Given the description of an element on the screen output the (x, y) to click on. 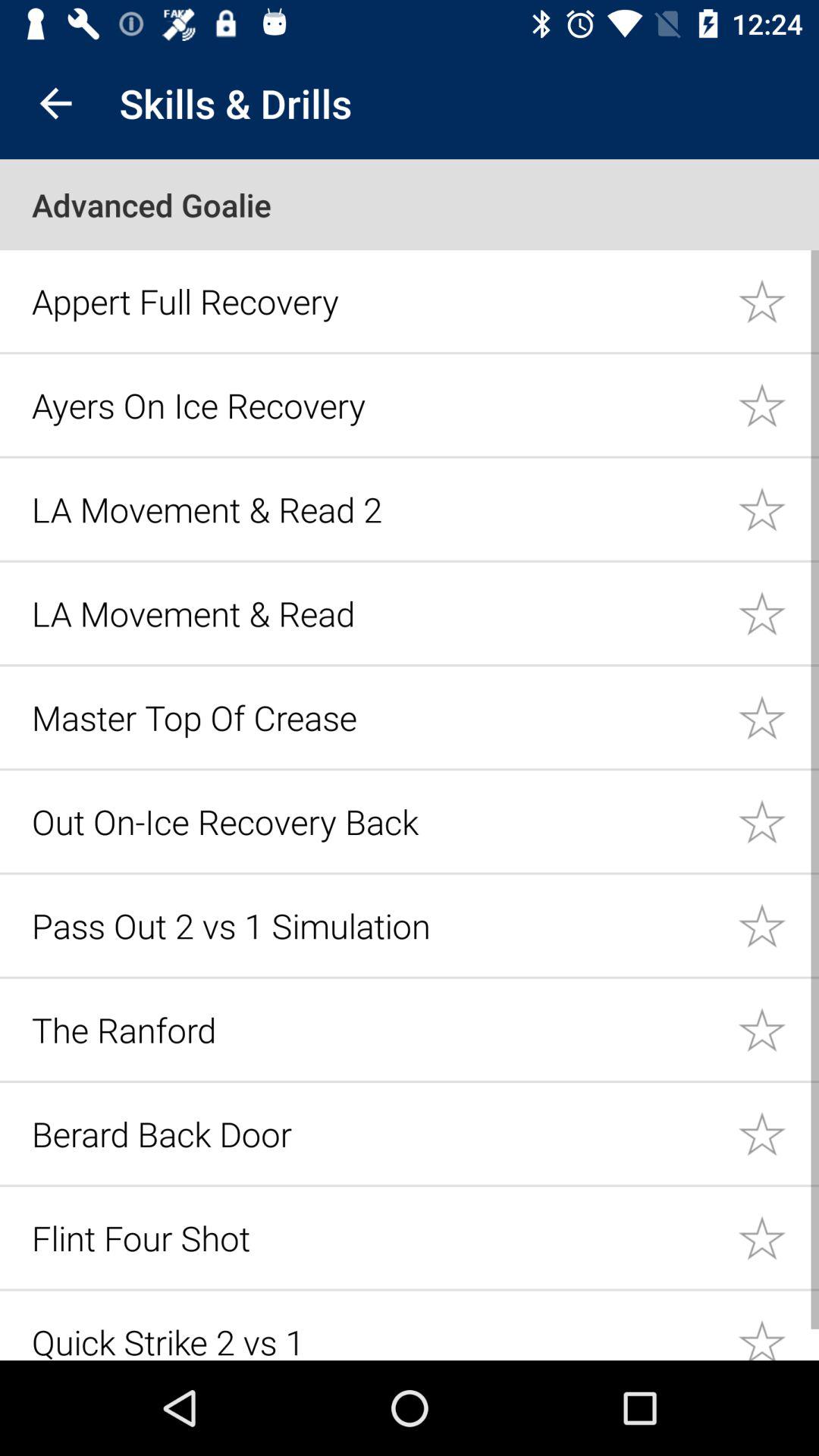
favorite the skill (778, 925)
